Given the description of an element on the screen output the (x, y) to click on. 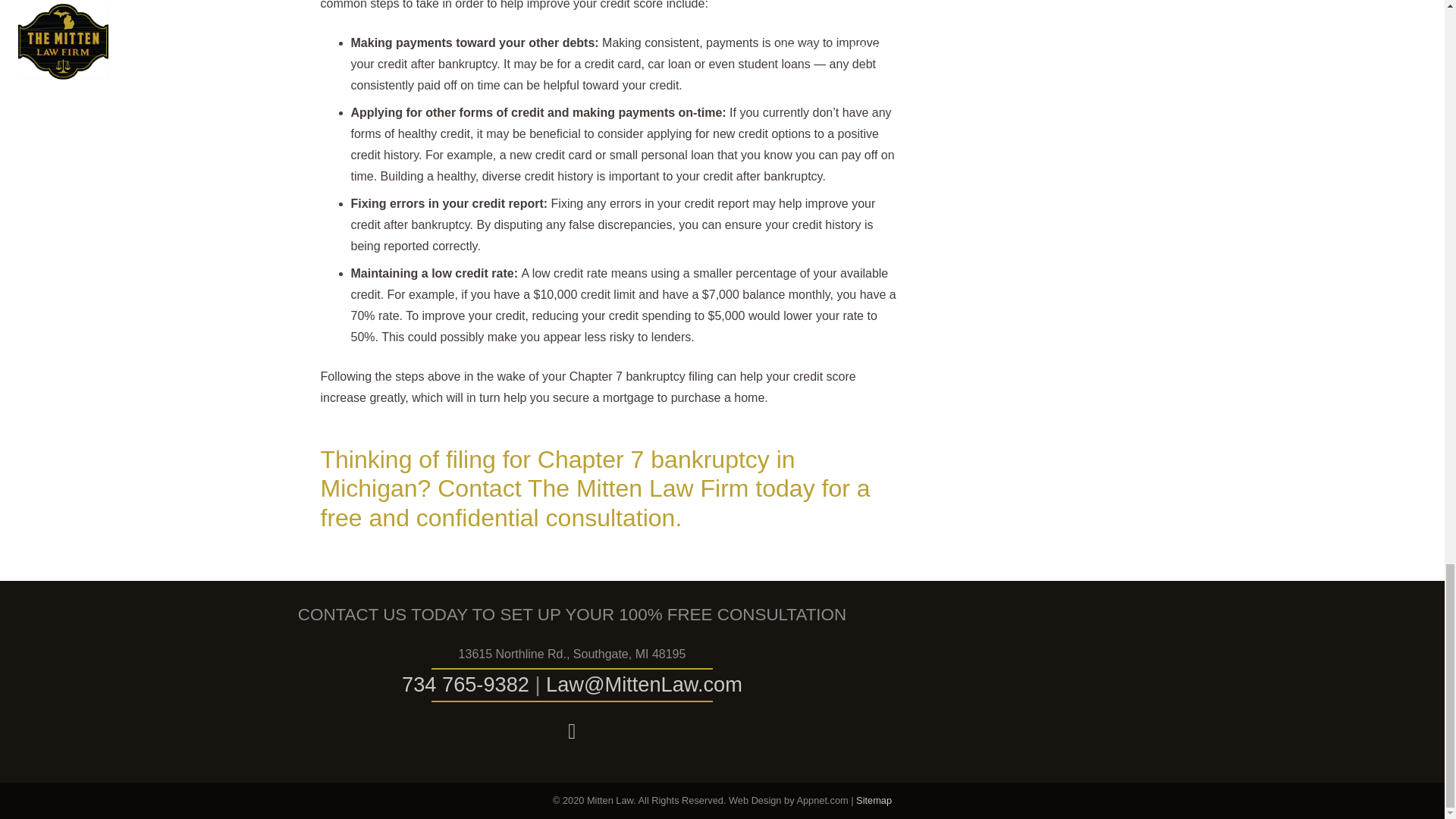
734 765-9382 (465, 684)
Sitemap (873, 799)
Facebook (571, 731)
